Given the description of an element on the screen output the (x, y) to click on. 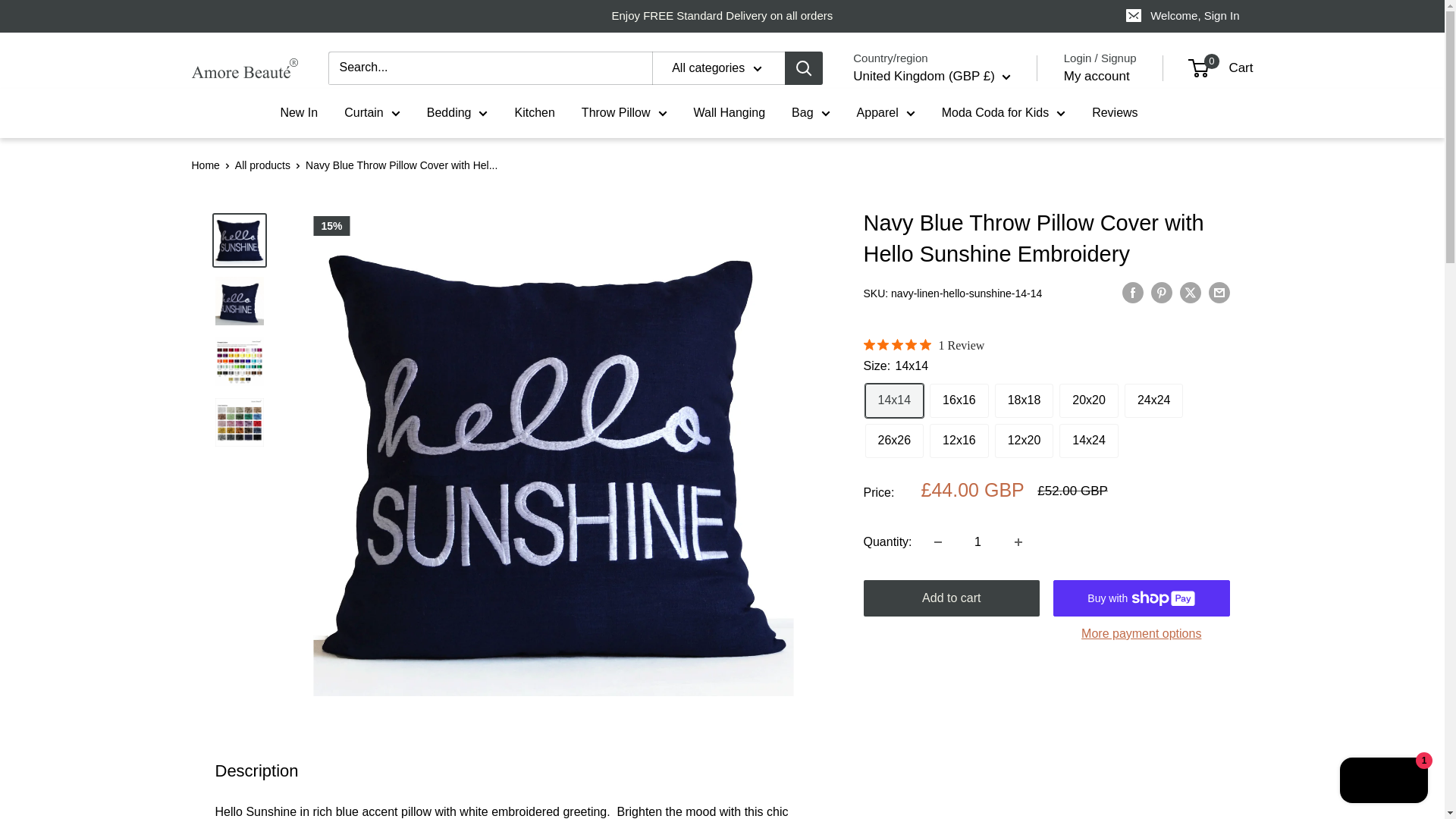
14x14 (893, 400)
Decrease quantity by 1 (937, 541)
AT (881, 427)
AW (881, 358)
26x26 (893, 440)
24x24 (1153, 400)
AZ (881, 451)
AU (881, 404)
AO (881, 242)
AR (881, 311)
AG (881, 289)
AC (881, 380)
BS (881, 473)
12x16 (959, 440)
Welcome, Sign In (1183, 15)
